Given the description of an element on the screen output the (x, y) to click on. 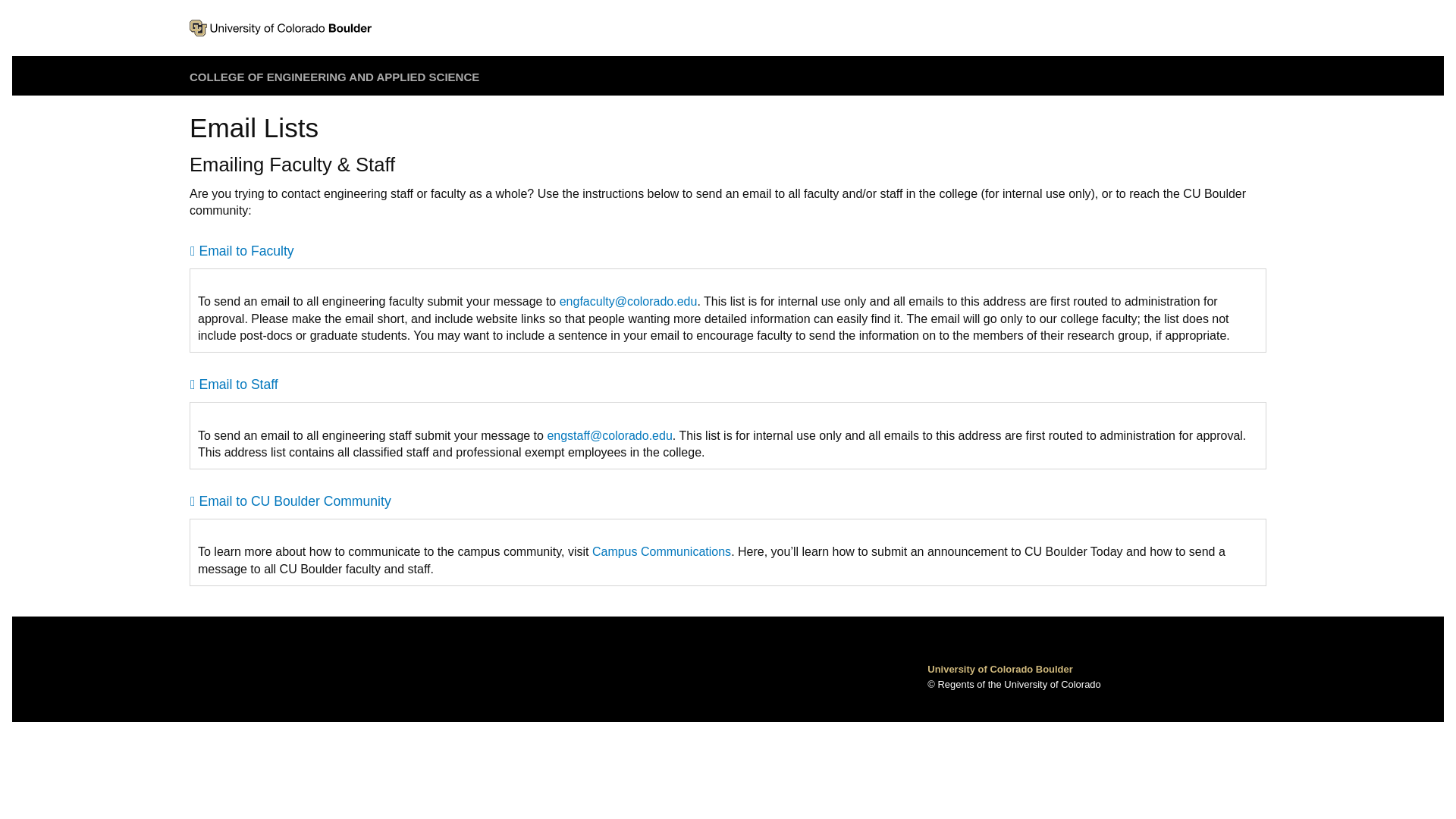
Email to Faculty (727, 251)
Campus Communications (661, 551)
Email to Staff (727, 384)
COLLEGE OF ENGINEERING AND APPLIED SCIENCE (334, 76)
Email to CU Boulder Community (727, 501)
